Given the description of an element on the screen output the (x, y) to click on. 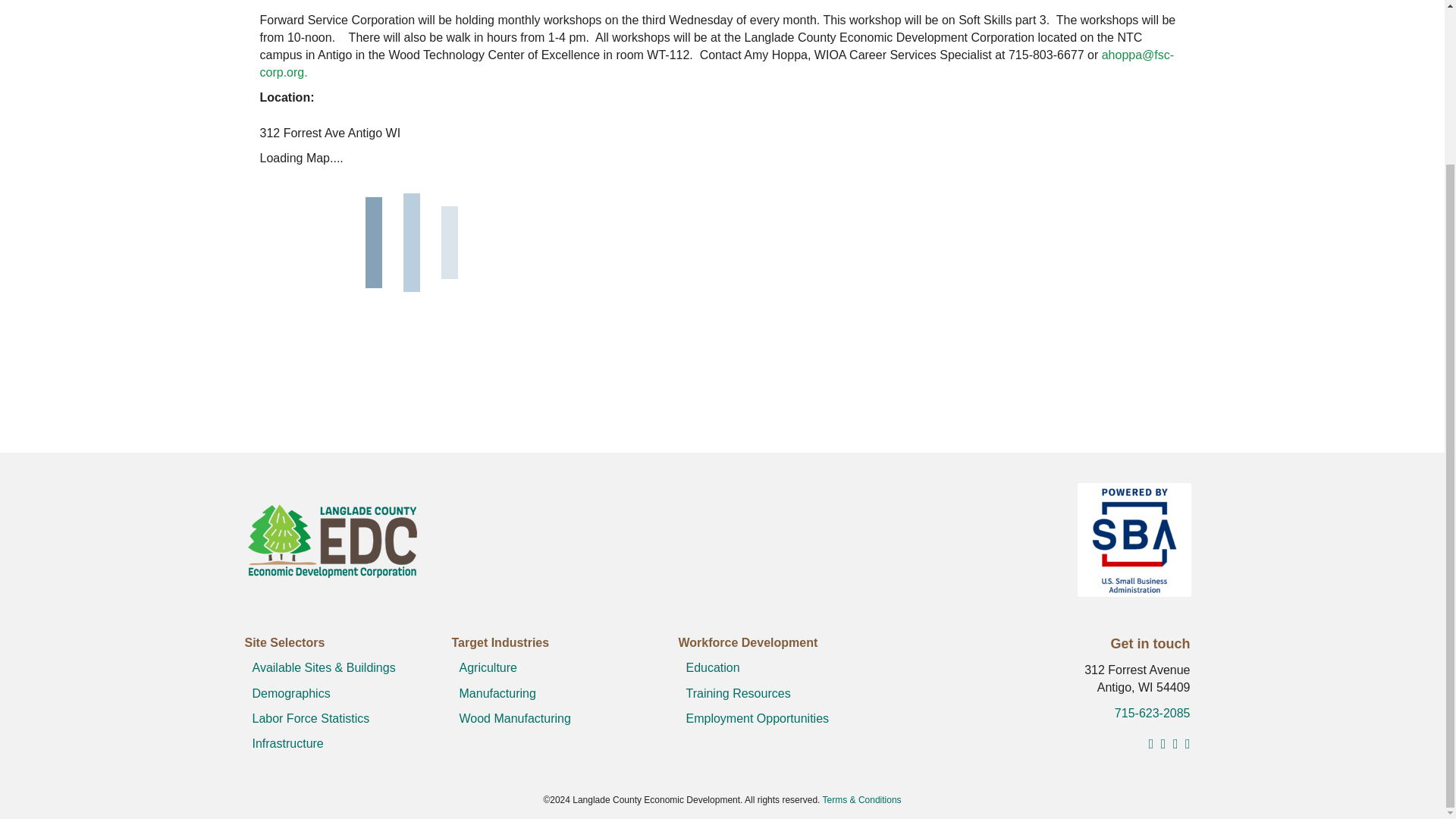
SBA-PoweredBy logo (1134, 540)
